Given the description of an element on the screen output the (x, y) to click on. 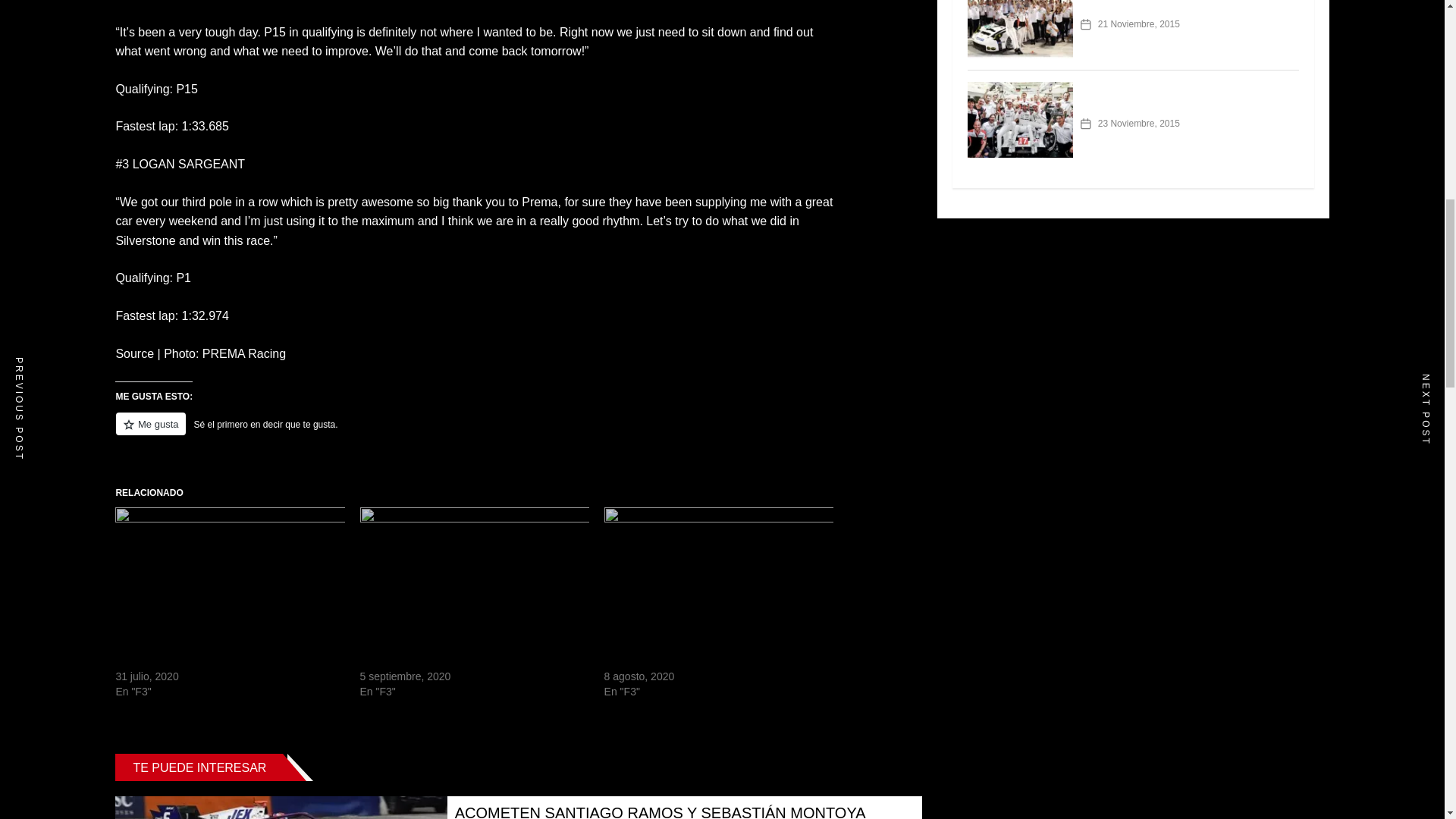
Logan Sargeant takes maiden FIA F3 pole at Silverstone (220, 653)
Me gusta o Compartir (477, 432)
Logan Sargeant takes maiden FIA F3 pole at Silverstone (229, 572)
